Given the description of an element on the screen output the (x, y) to click on. 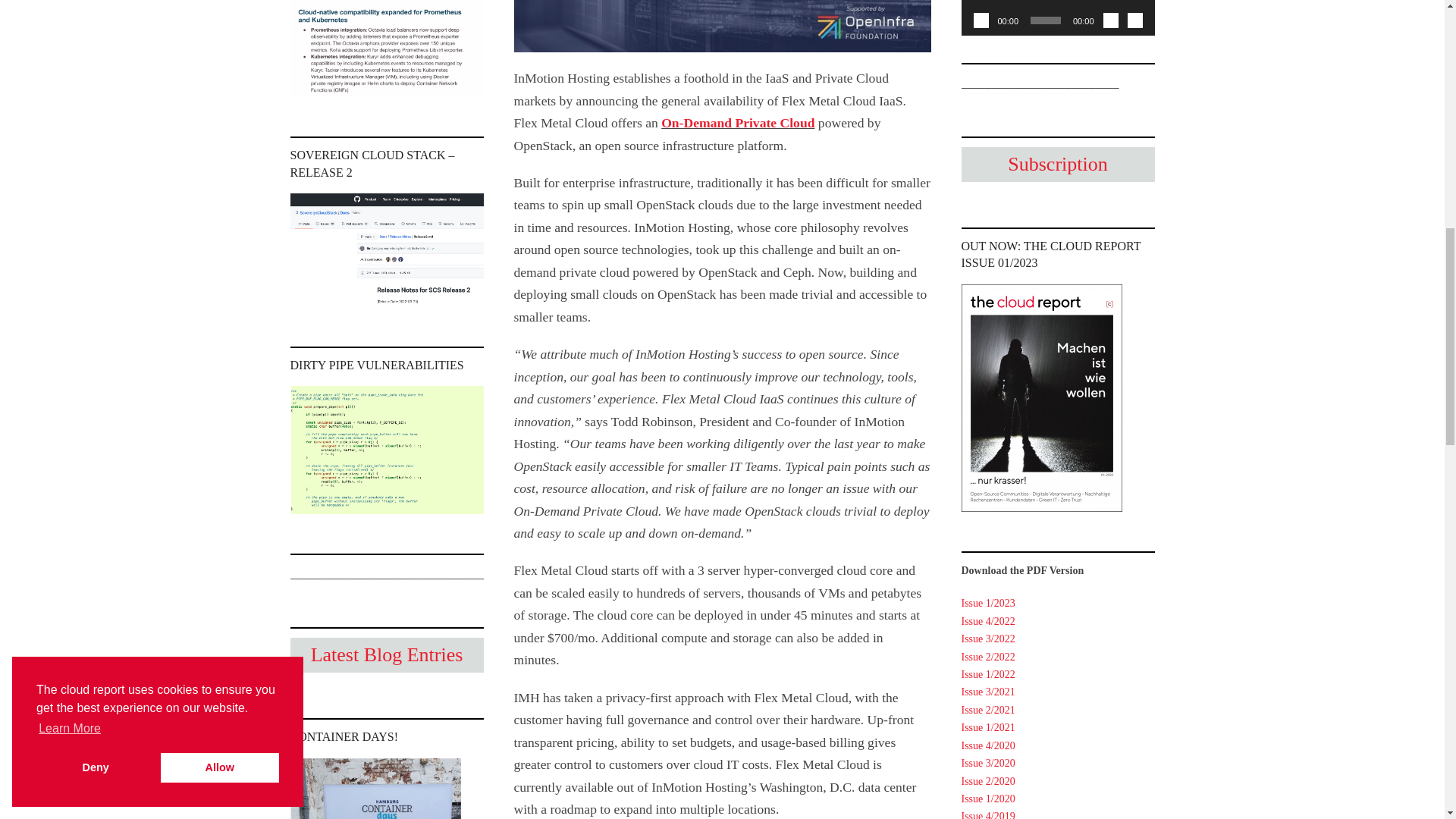
Play (981, 20)
Mute (1110, 20)
Fullscreen (1133, 20)
On-Demand Private Cloud (737, 122)
Latest Blog Entries (386, 655)
